Given the description of an element on the screen output the (x, y) to click on. 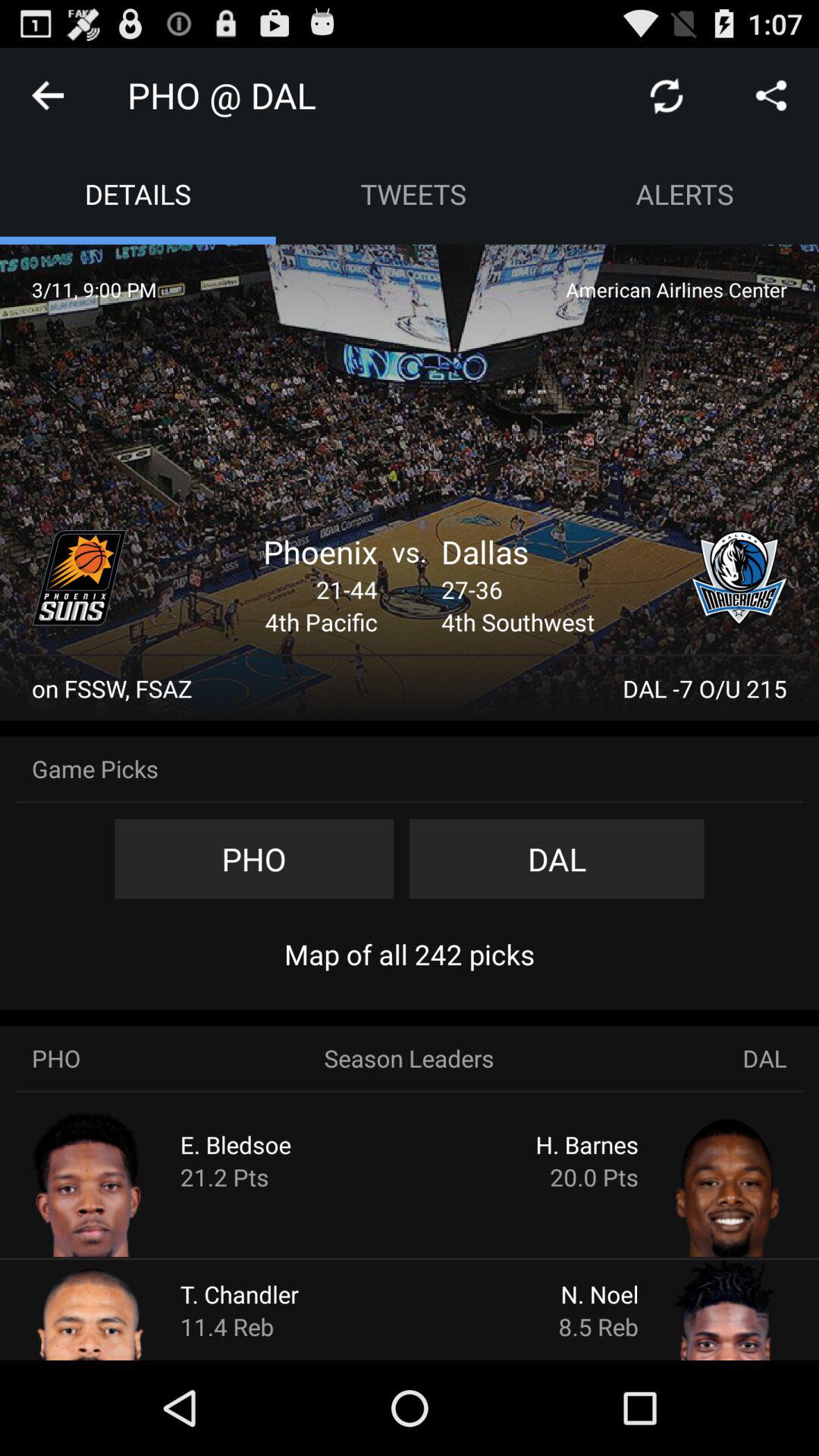
clique para compartilhar nas redes sociais (771, 95)
